Given the description of an element on the screen output the (x, y) to click on. 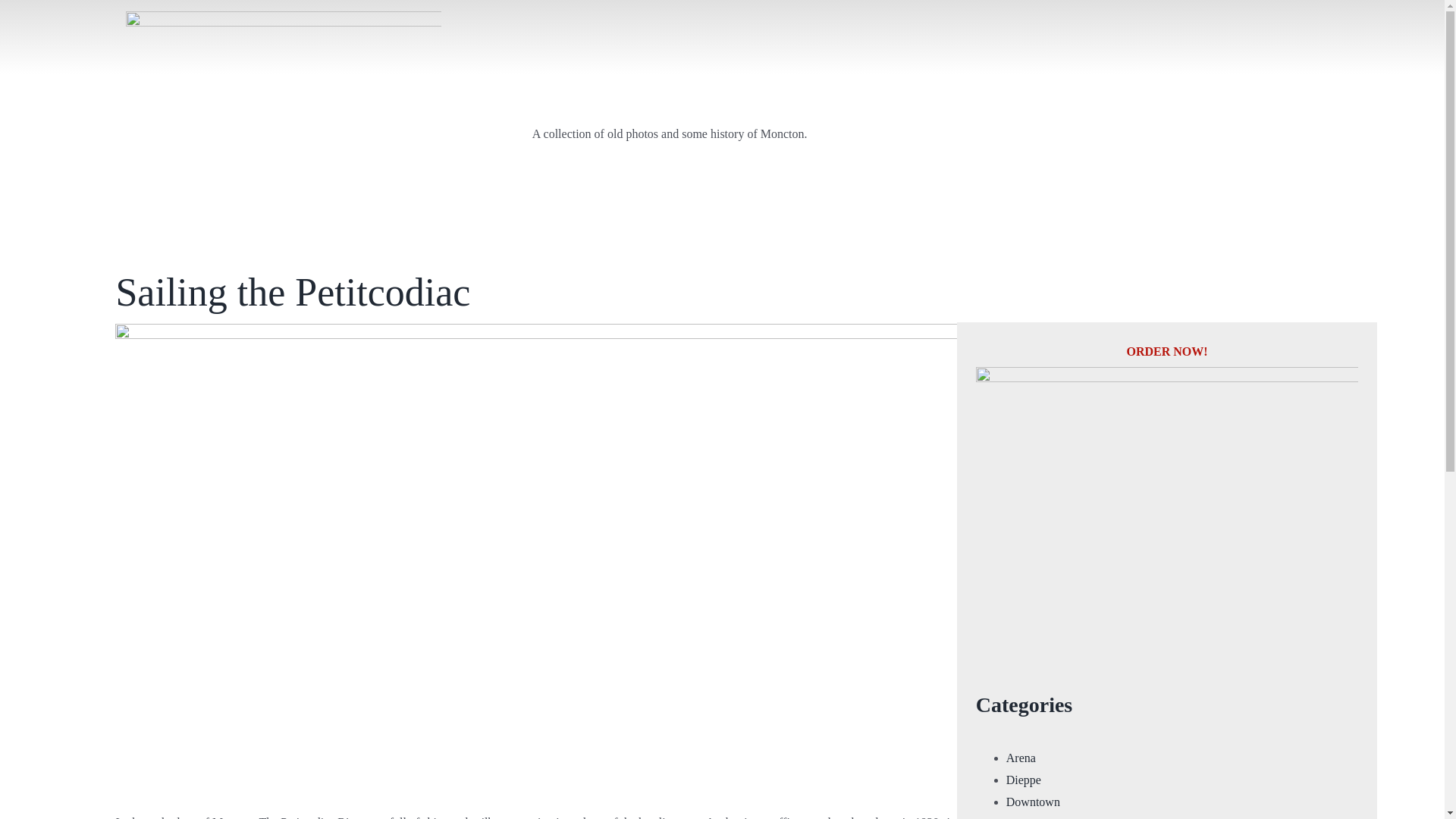
Downtown (1032, 801)
Arena (1020, 757)
Gunningsville (1040, 818)
Dieppe (1023, 779)
